Given the description of an element on the screen output the (x, y) to click on. 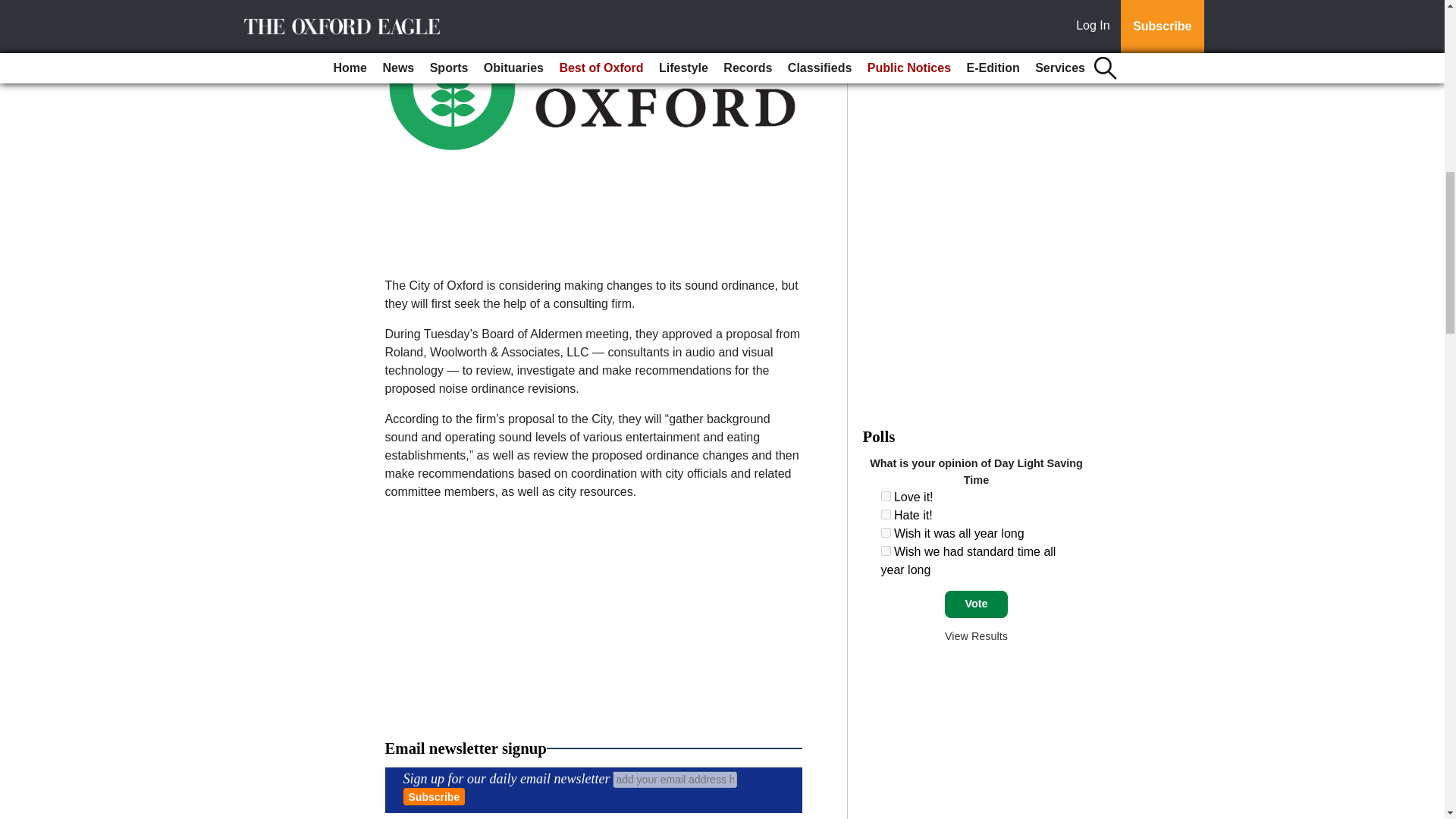
162 (885, 532)
163 (885, 551)
   Vote    (975, 604)
Subscribe (434, 796)
View Results (975, 635)
View Results Of This Poll (975, 635)
Subscribe (434, 796)
160 (885, 496)
161 (885, 514)
